Given the description of an element on the screen output the (x, y) to click on. 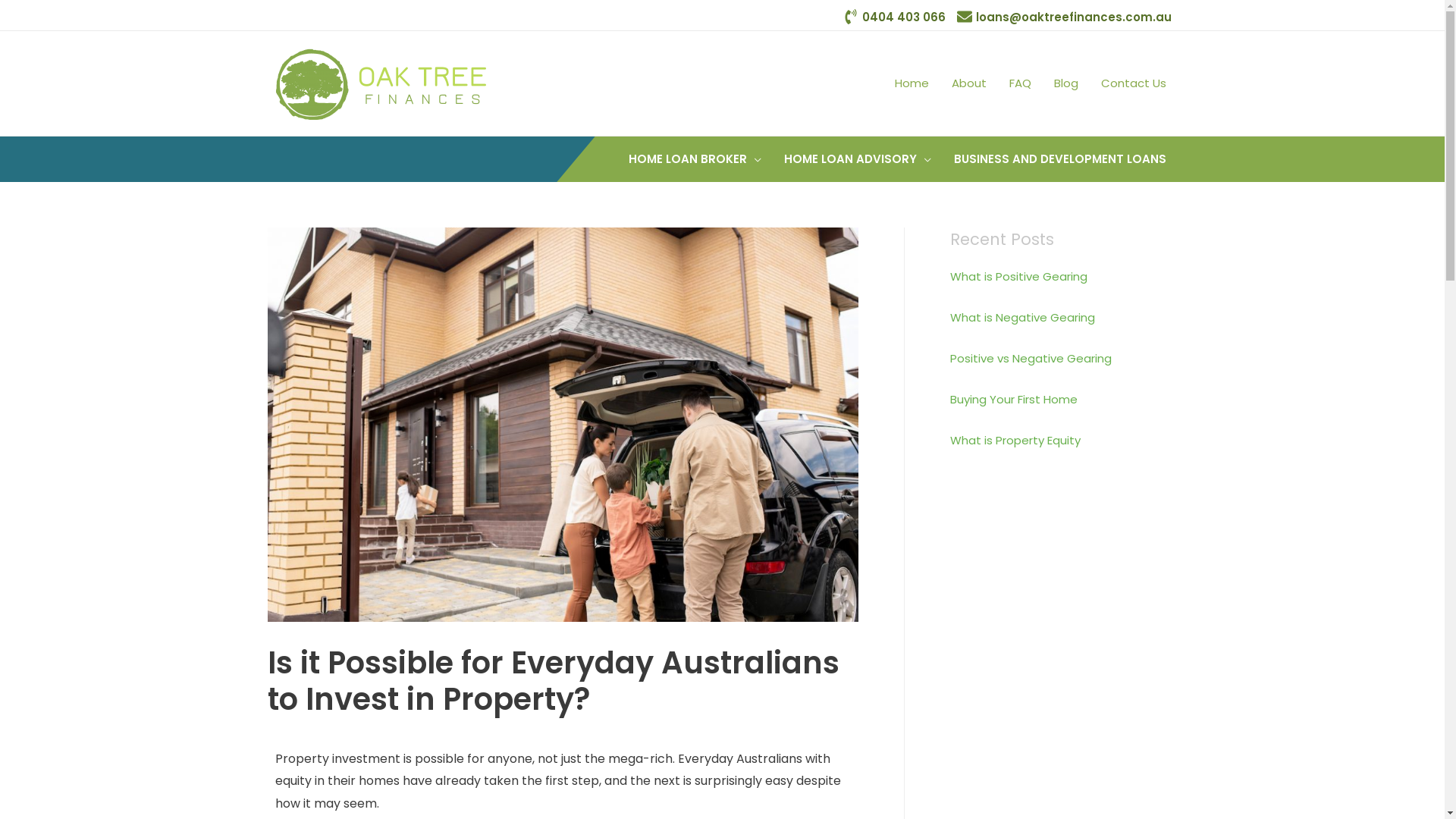
About Element type: text (968, 83)
Positive vs Negative Gearing Element type: text (1029, 358)
Contact Us Element type: text (1132, 83)
Blog Element type: text (1064, 83)
Home Element type: text (910, 83)
0404 403 066 Element type: text (894, 16)
What is Negative Gearing Element type: text (1021, 317)
BUSINESS AND DEVELOPMENT LOANS Element type: text (1058, 159)
HOME LOAN ADVISORY Element type: text (856, 159)
loans@oaktreefinances.com.au Element type: text (1064, 16)
What is Property Equity Element type: text (1014, 440)
HOME LOAN BROKER Element type: text (694, 159)
Buying Your First Home Element type: text (1012, 399)
What is Positive Gearing Element type: text (1017, 276)
FAQ Element type: text (1019, 83)
